Given the description of an element on the screen output the (x, y) to click on. 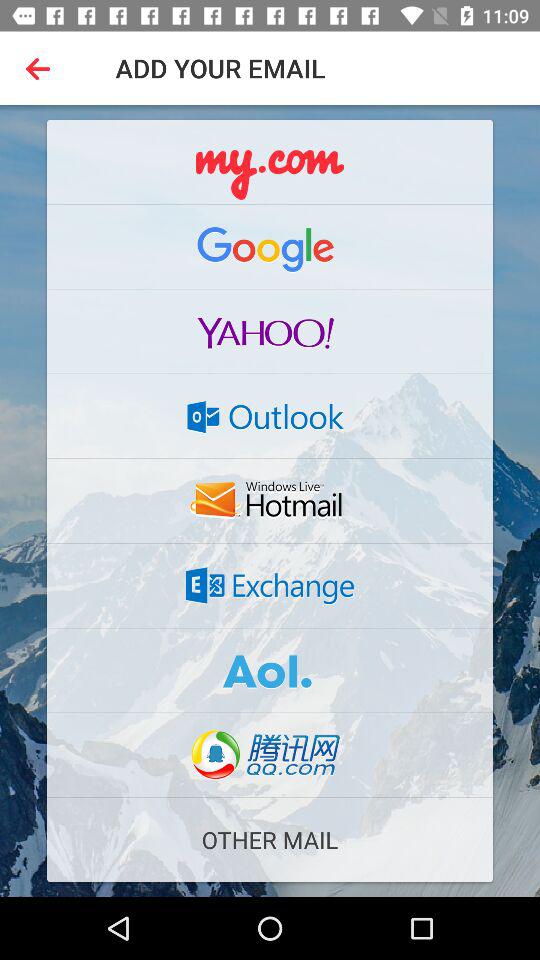
open outlook (269, 416)
